Given the description of an element on the screen output the (x, y) to click on. 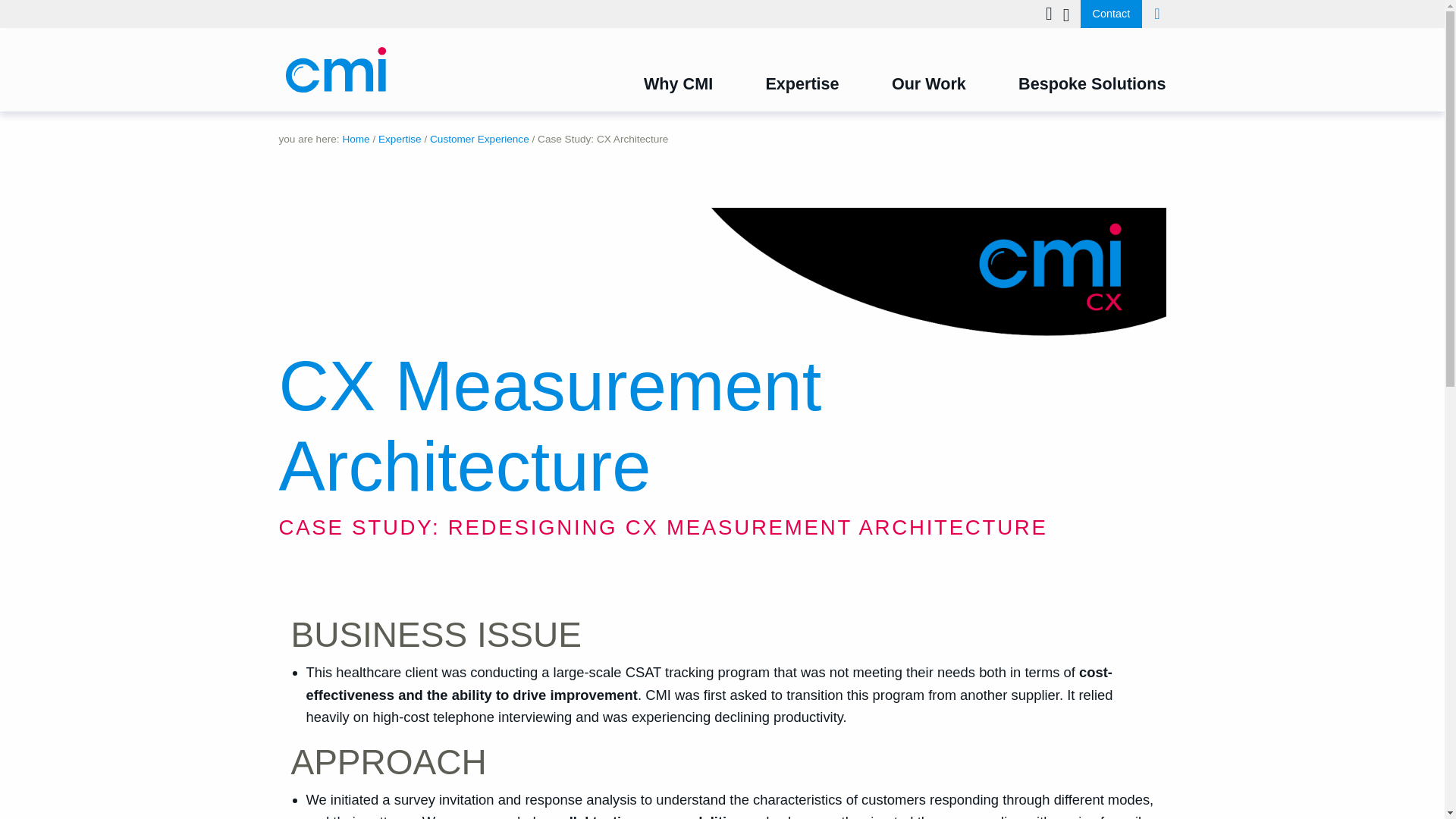
Our Work (904, 85)
Why CMI (653, 85)
Bespoke Solutions (1067, 85)
Contact (1111, 13)
Expertise (778, 85)
